Given the description of an element on the screen output the (x, y) to click on. 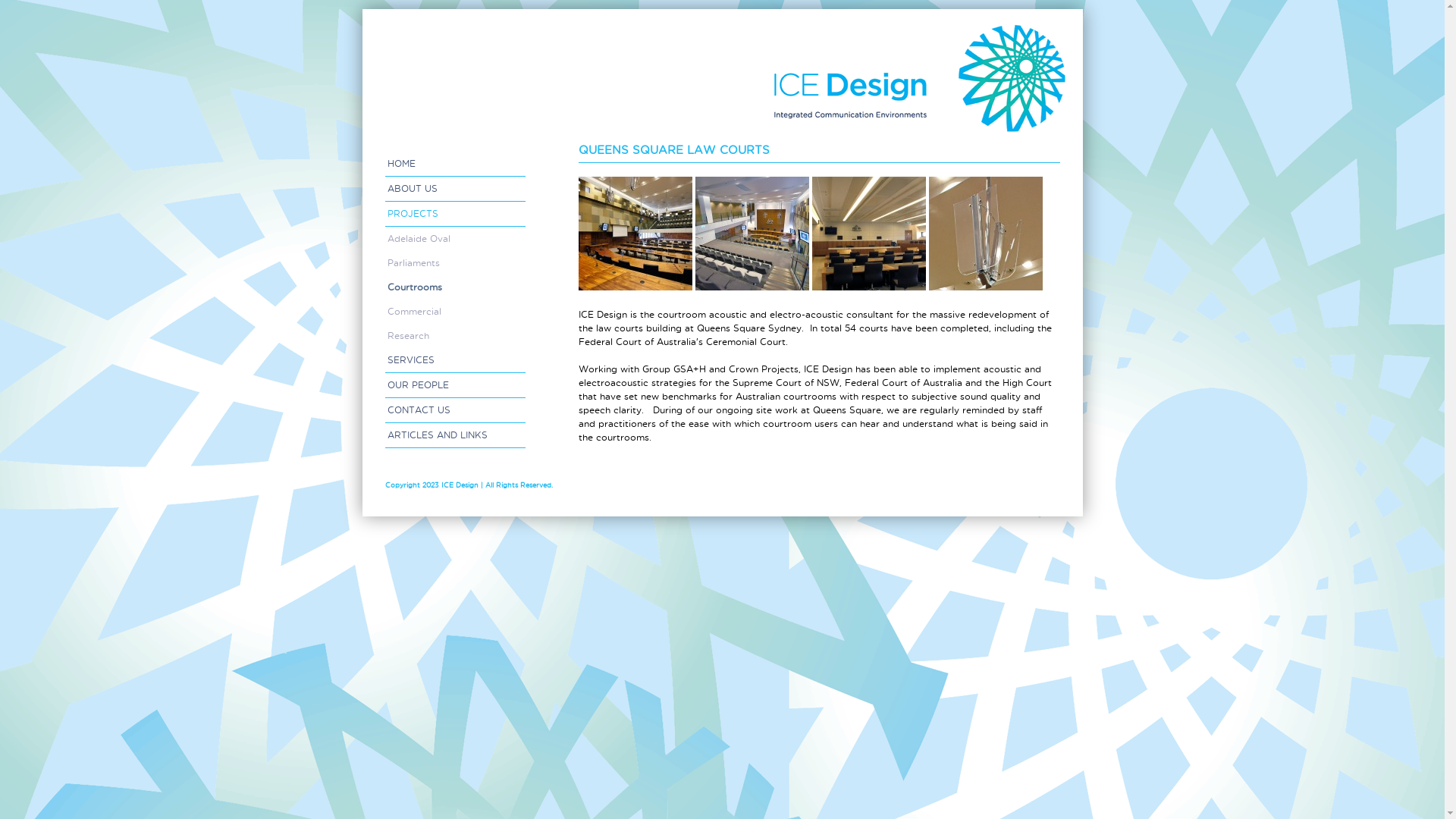
QSLC Hanging Line Array Element type: hover (984, 233)
CONTACT US Element type: text (455, 410)
ABOUT US Element type: text (455, 188)
Adelaide Oval Element type: text (455, 238)
OUR PEOPLE Element type: text (455, 385)
QSLC Court 1 Element type: hover (751, 233)
ARTICLES AND LINKS Element type: text (455, 435)
QSLC Court 1 Element type: hover (634, 233)
Courtrooms Element type: text (455, 287)
QSLC Typical Courtroom Element type: hover (868, 233)
Parliaments Element type: text (455, 263)
SERVICES Element type: text (455, 360)
PROJECTS Element type: text (455, 213)
HOME Element type: text (455, 163)
Research Element type: text (455, 335)
Commercial Element type: text (455, 311)
